Given the description of an element on the screen output the (x, y) to click on. 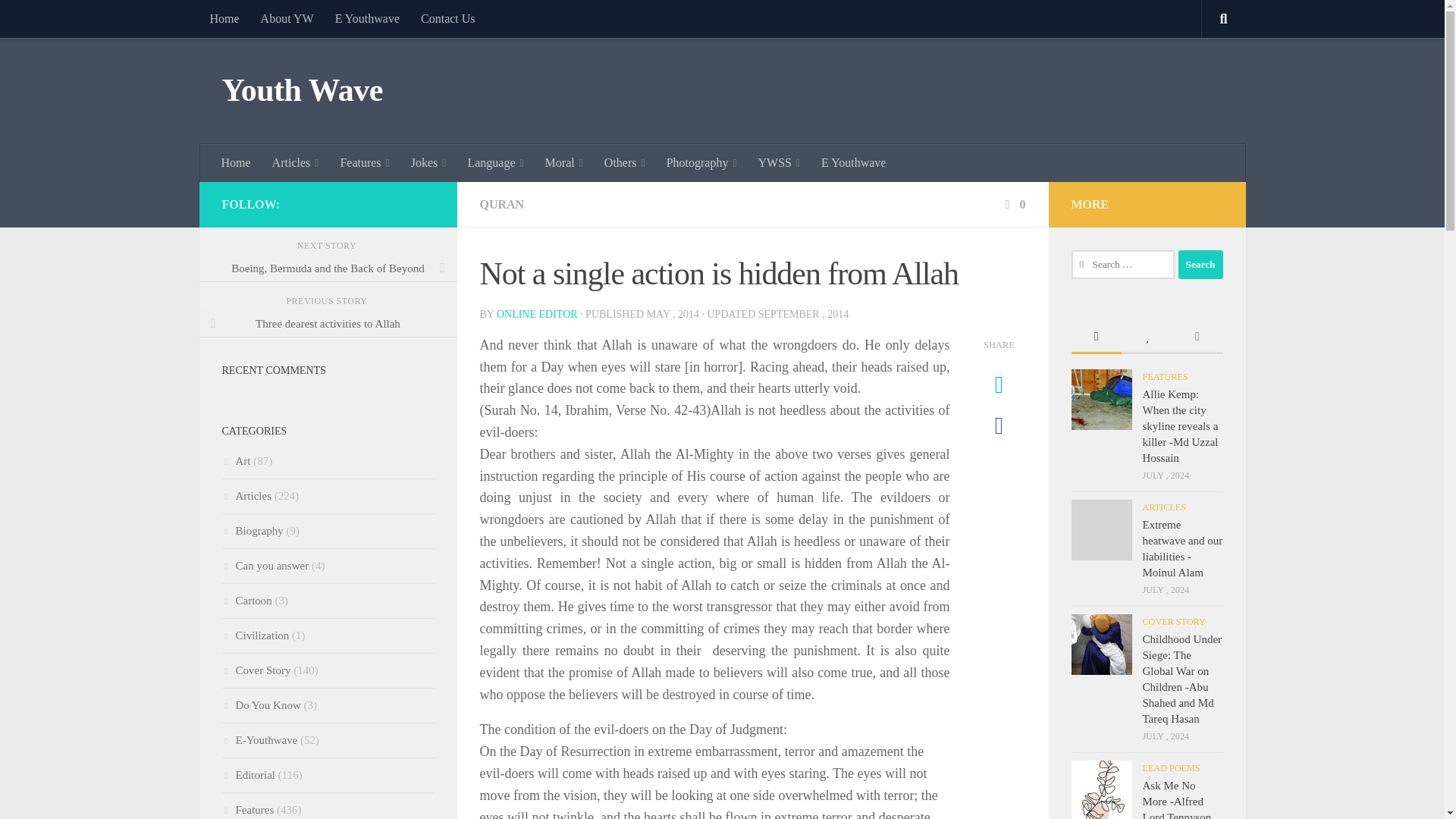
Search (1200, 264)
Skip to content (59, 20)
Recent Comments (1197, 337)
Popular Posts (1146, 337)
Search (1200, 264)
Recent Posts (1095, 337)
Posts by Online Editor (537, 314)
